Given the description of an element on the screen output the (x, y) to click on. 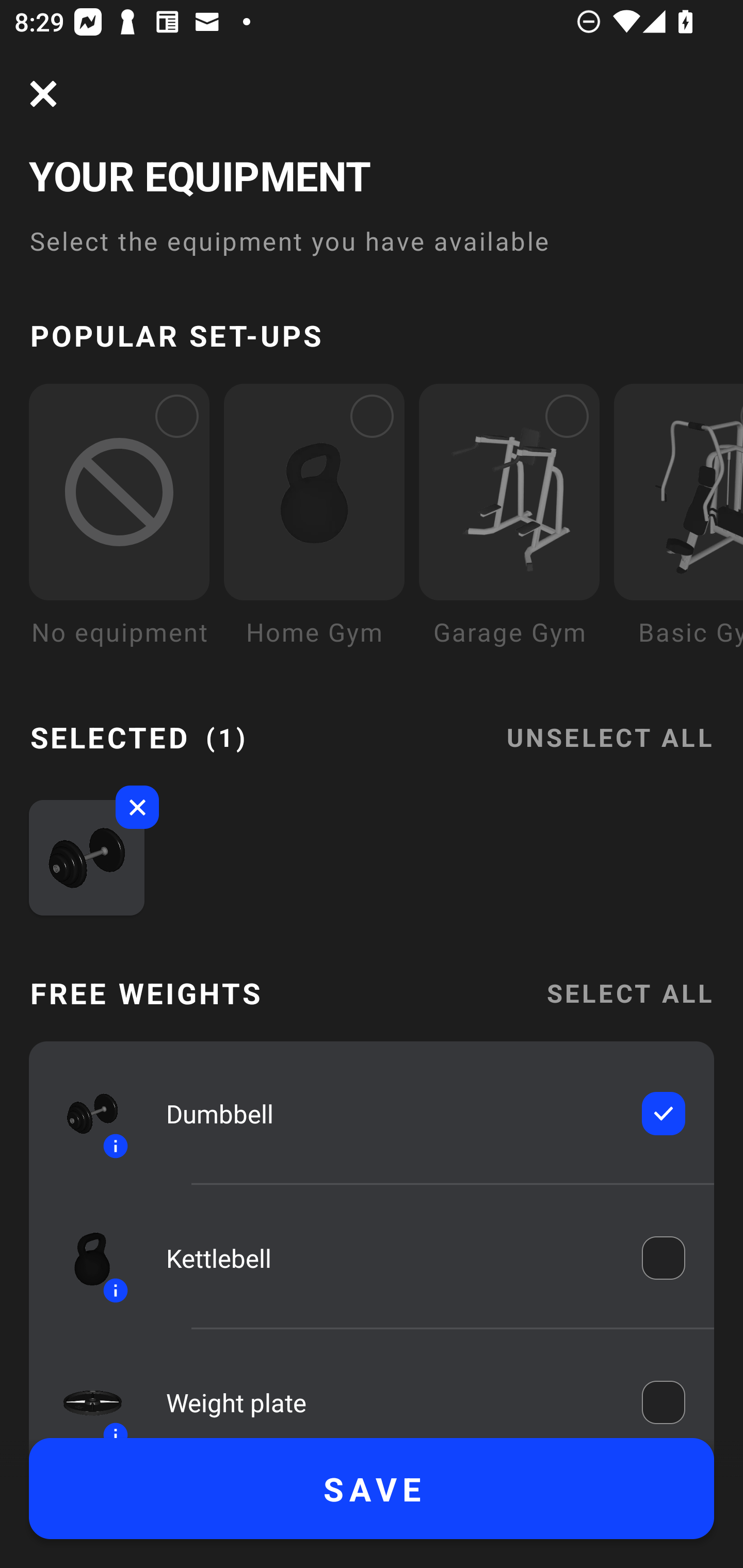
Navigation icon (43, 93)
UNSELECT ALL (609, 725)
SELECT ALL (629, 993)
Equipment icon Information icon (82, 1113)
Dumbbell (389, 1113)
Equipment icon Information icon (82, 1258)
Kettlebell (389, 1258)
Equipment icon Information icon (82, 1392)
Weight plate (389, 1398)
SAVE (371, 1488)
